Given the description of an element on the screen output the (x, y) to click on. 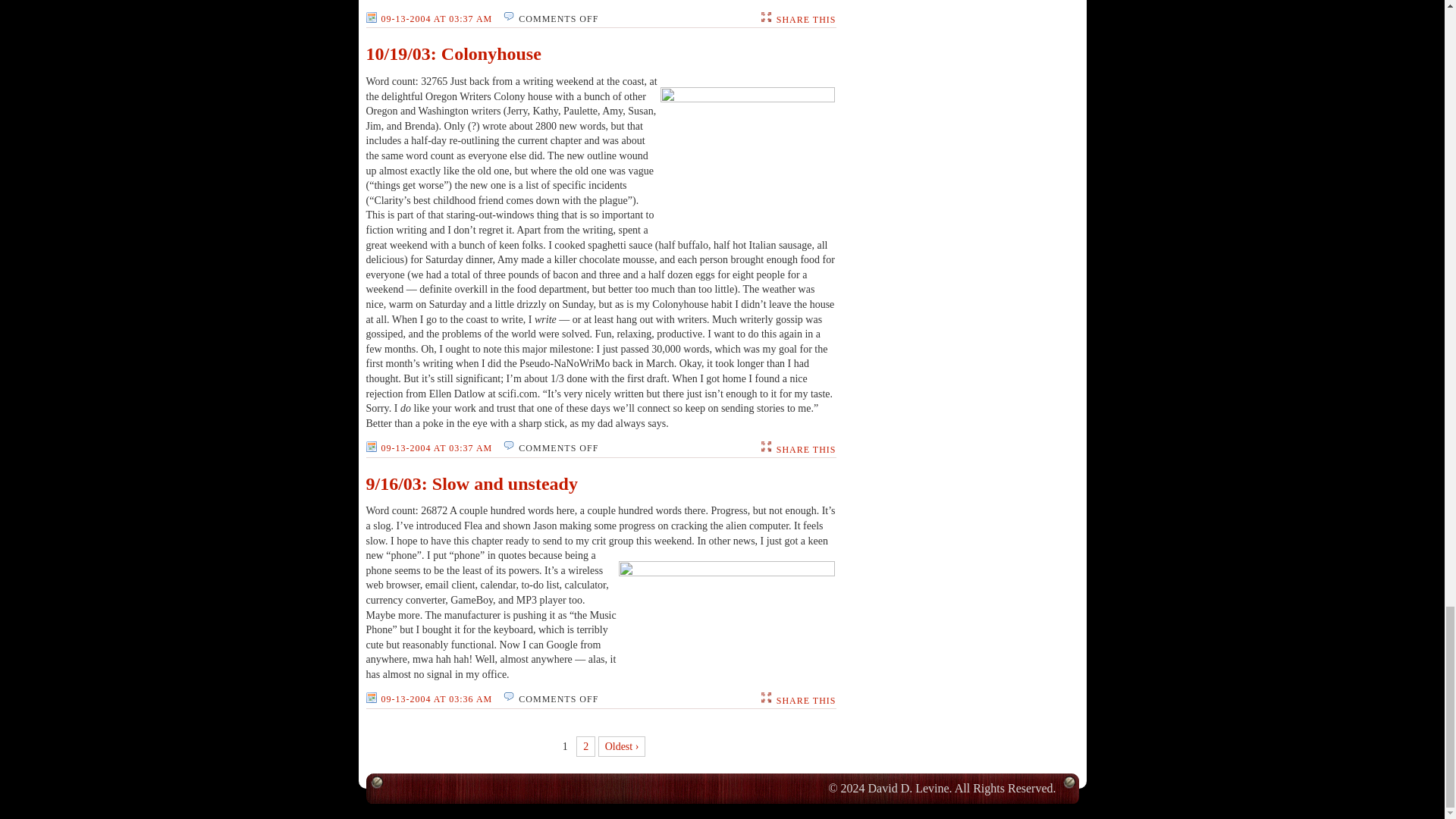
09-13-2004 AT 03:37 AM (428, 448)
SHARE THIS (805, 19)
SHARE THIS (805, 449)
09-13-2004 AT 03:37 AM (428, 19)
